Given the description of an element on the screen output the (x, y) to click on. 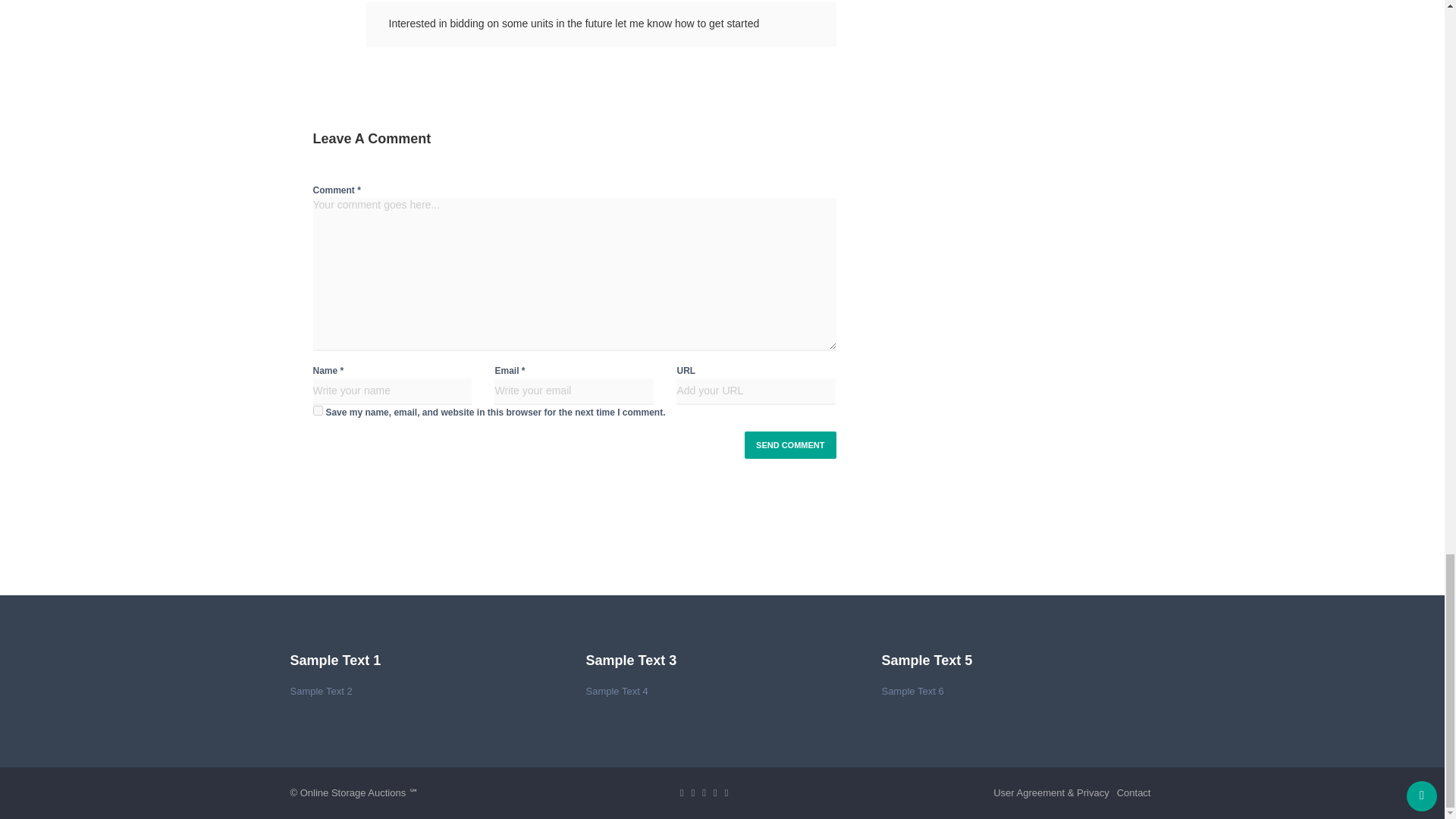
Contact (1133, 793)
Send Comment (789, 444)
Contact (1133, 793)
yes (317, 410)
Send Comment (789, 444)
